Given the description of an element on the screen output the (x, y) to click on. 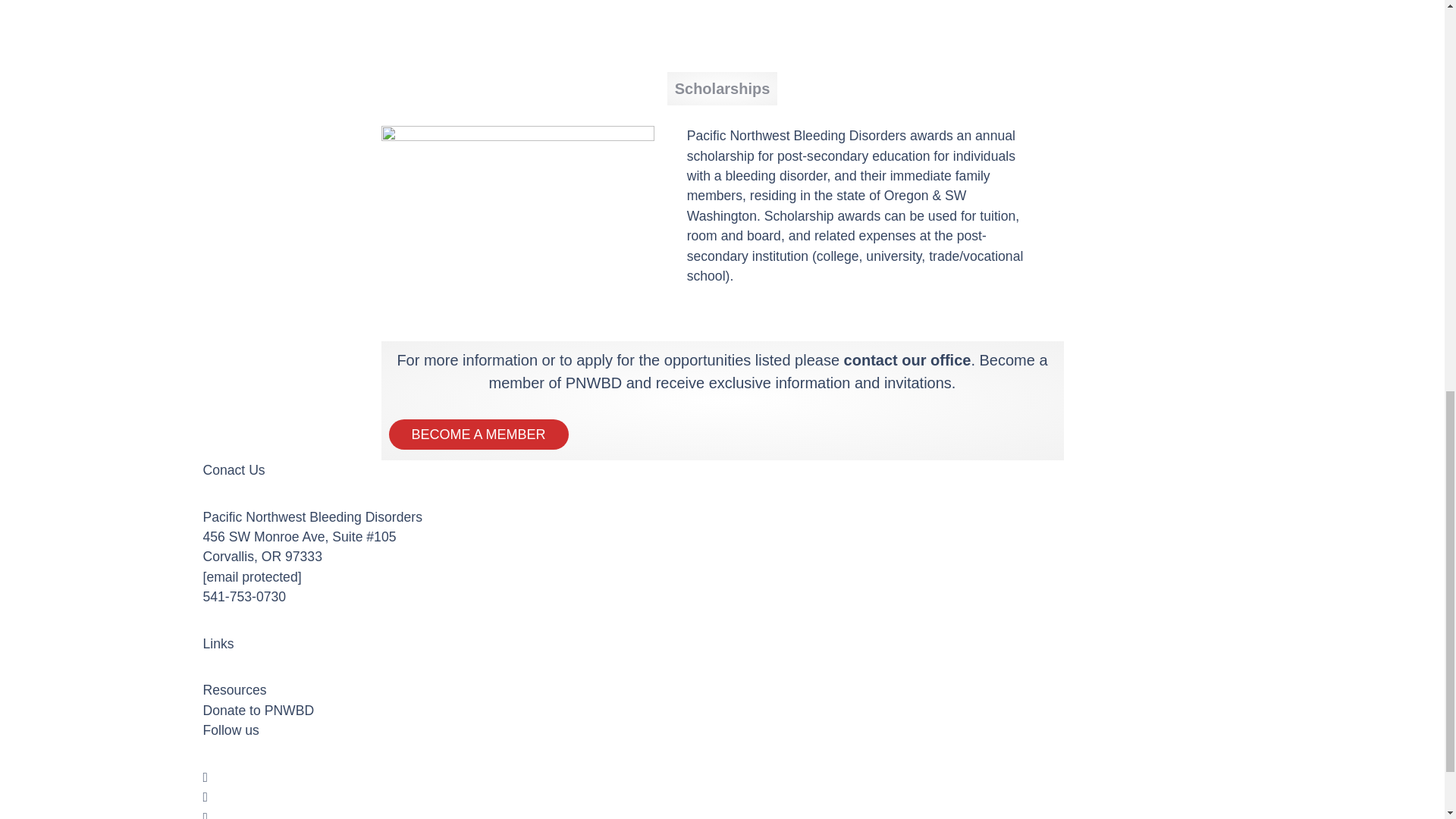
contact our office (907, 360)
Resources (234, 689)
BECOME A MEMBER (477, 434)
Donate to PNWBD (258, 710)
